Given the description of an element on the screen output the (x, y) to click on. 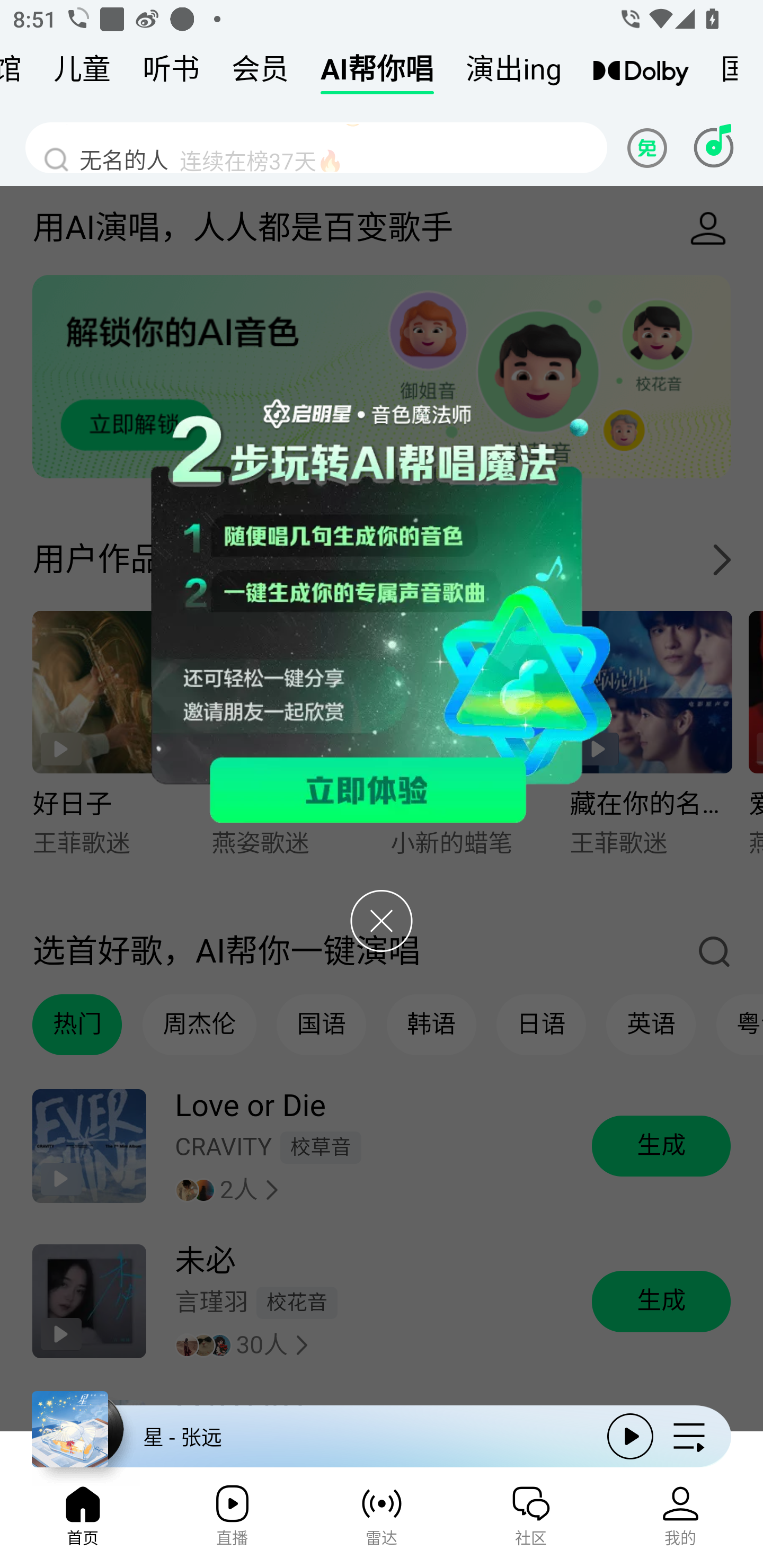
儿童 (81, 73)
听书 (170, 73)
会员 (259, 73)
AI帮你唱 (377, 73)
演出ing (513, 73)
杜比 (641, 73)
搜索 离别开出花连续在榜88天🔥 离别开出花 连续在榜88天🔥 (316, 147)
看广告免费听歌 (649, 146)
听歌识曲 (713, 146)
星 - 张远 (311, 1435)
播放 (630, 1435)
歌曲队列 (688, 1435)
首页 (82, 1521)
直播 (231, 1521)
雷达 (381, 1521)
社区 (530, 1521)
我的 (680, 1521)
